Given the description of an element on the screen output the (x, y) to click on. 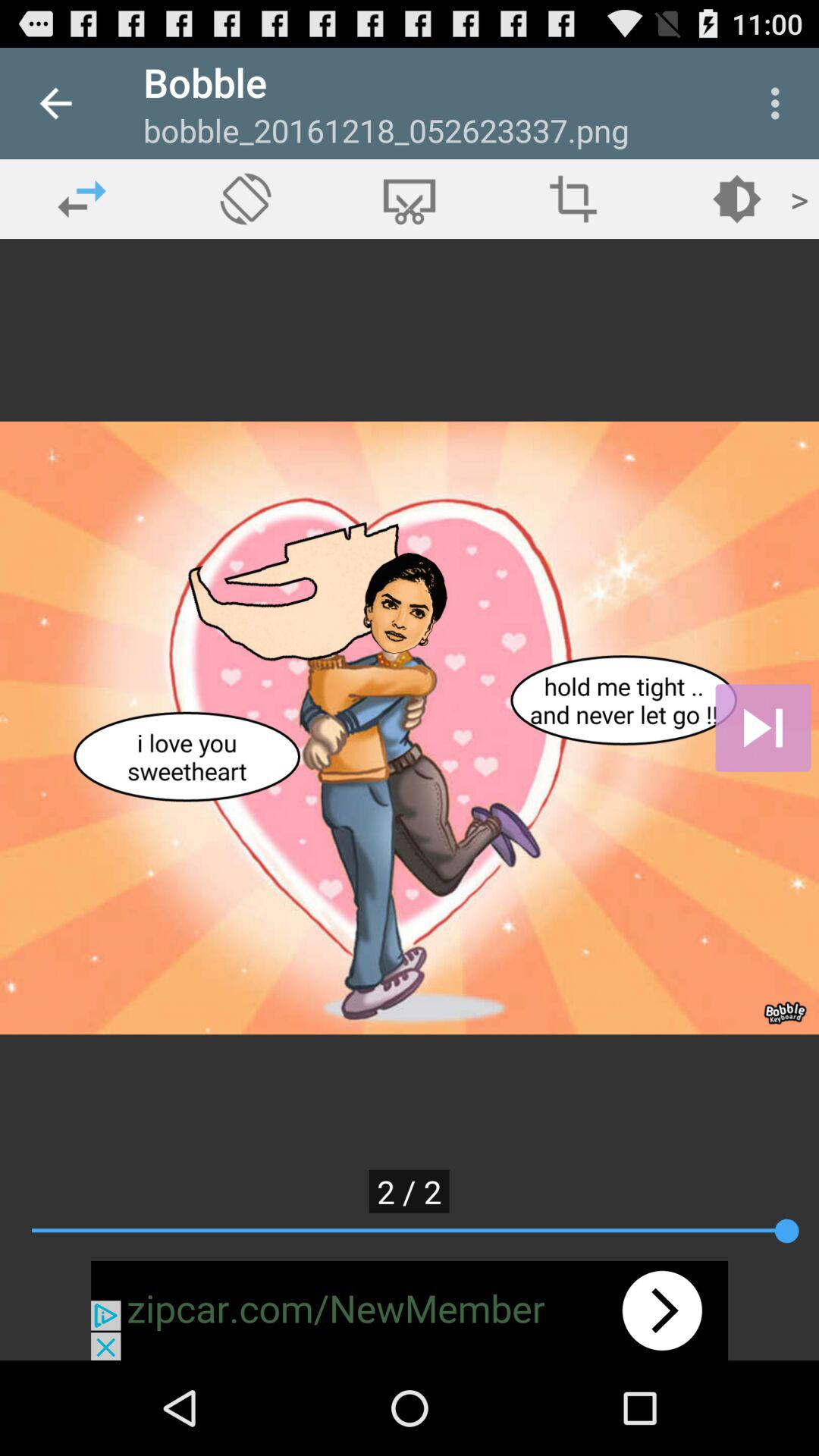
go to next page (763, 727)
